Given the description of an element on the screen output the (x, y) to click on. 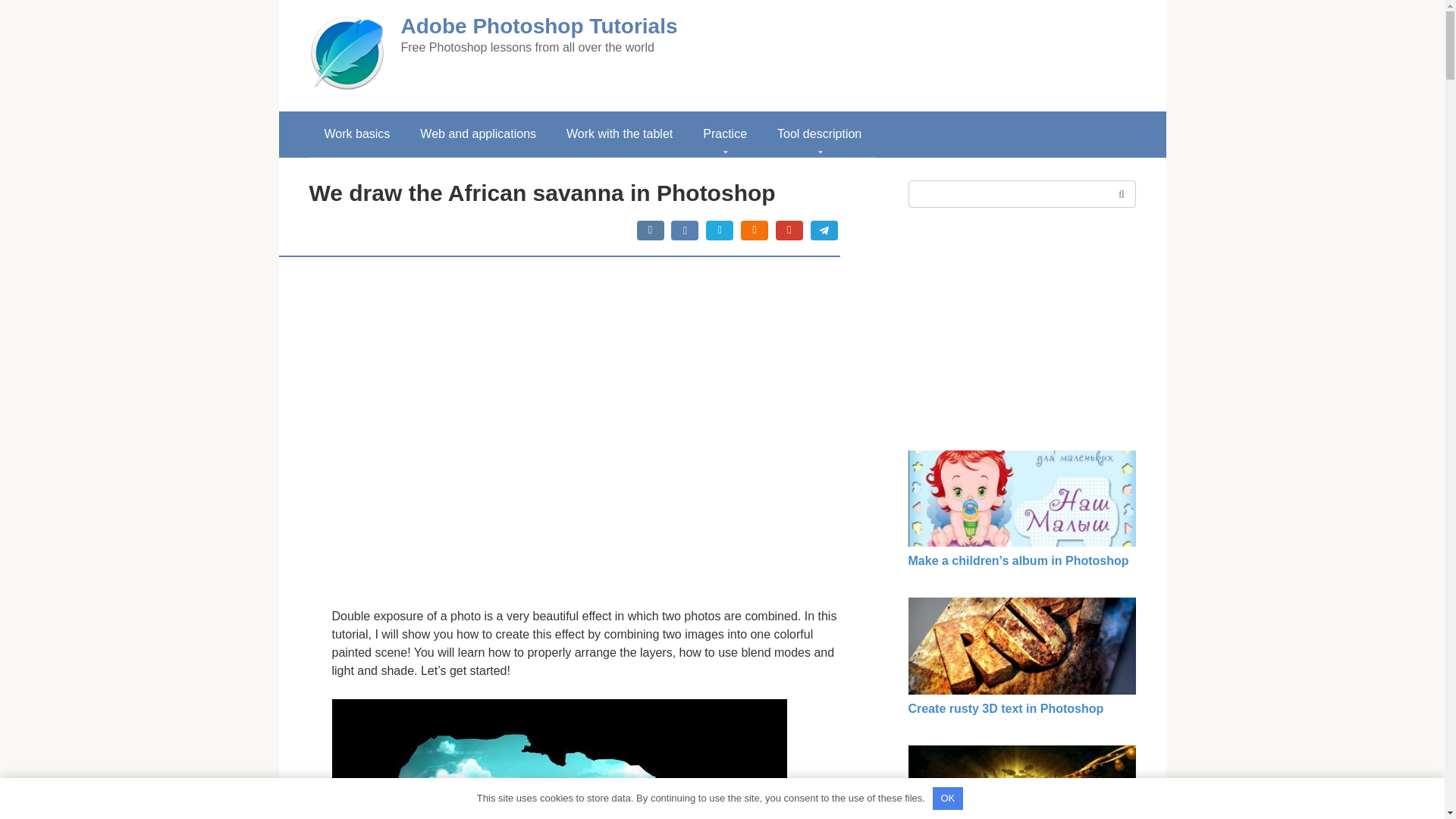
Work basics (357, 134)
Tool description (818, 134)
Work with the tablet (619, 134)
Adobe Photoshop Tutorials (538, 25)
Practice (724, 134)
Create rusty 3D text in Photoshop (1005, 707)
Web and applications (477, 134)
